Given the description of an element on the screen output the (x, y) to click on. 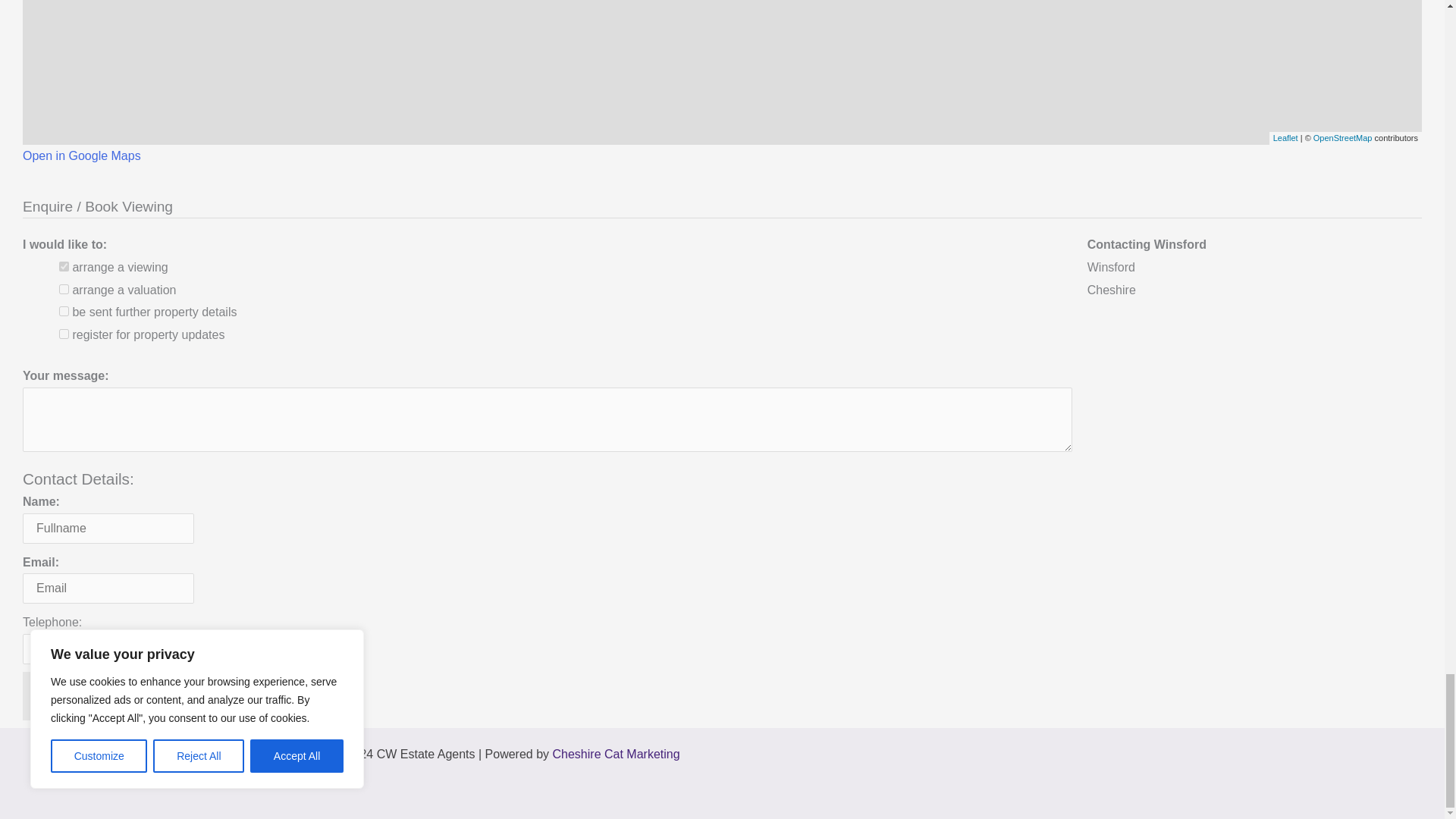
true (63, 334)
true (63, 289)
true (63, 311)
true (63, 266)
Send (58, 695)
